Given the description of an element on the screen output the (x, y) to click on. 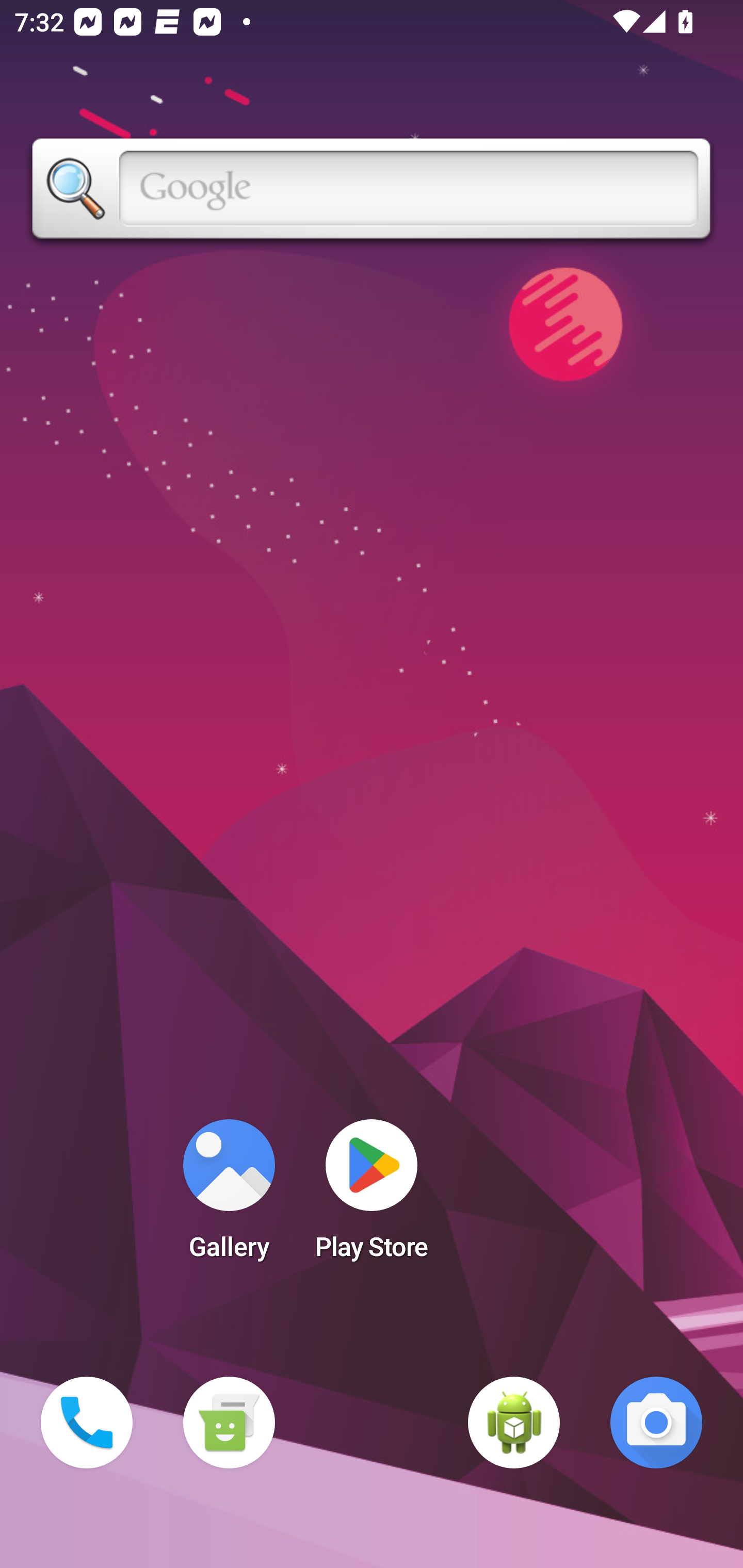
Gallery (228, 1195)
Play Store (371, 1195)
Phone (86, 1422)
Messaging (228, 1422)
WebView Browser Tester (513, 1422)
Camera (656, 1422)
